Given the description of an element on the screen output the (x, y) to click on. 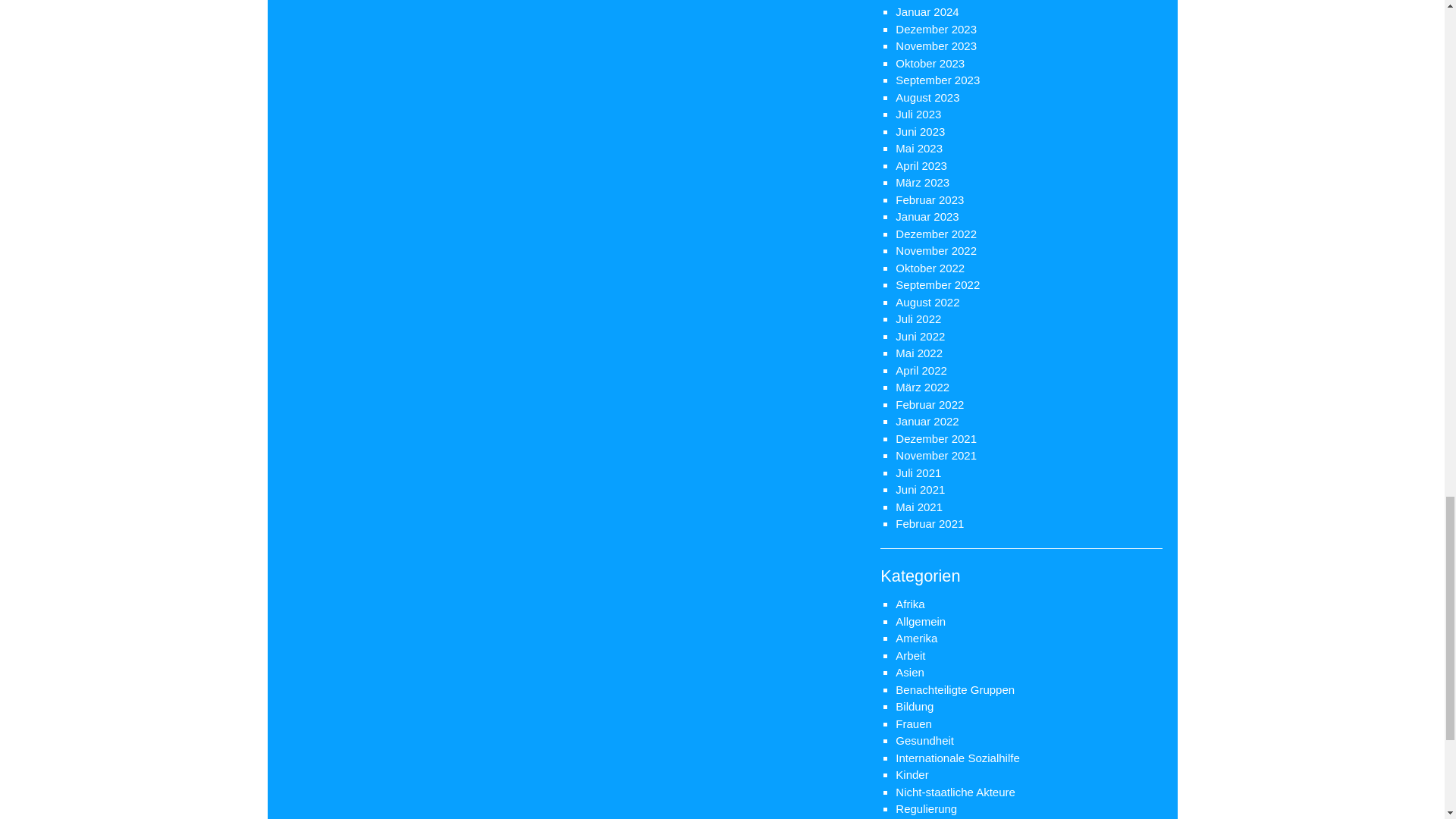
September 2023 (937, 79)
Juni 2023 (919, 131)
Dezember 2022 (935, 233)
April 2023 (921, 164)
Februar 2024 (929, 0)
Januar 2024 (926, 11)
November 2023 (935, 45)
August 2023 (927, 97)
Dezember 2023 (935, 29)
Juli 2023 (917, 113)
